Given the description of an element on the screen output the (x, y) to click on. 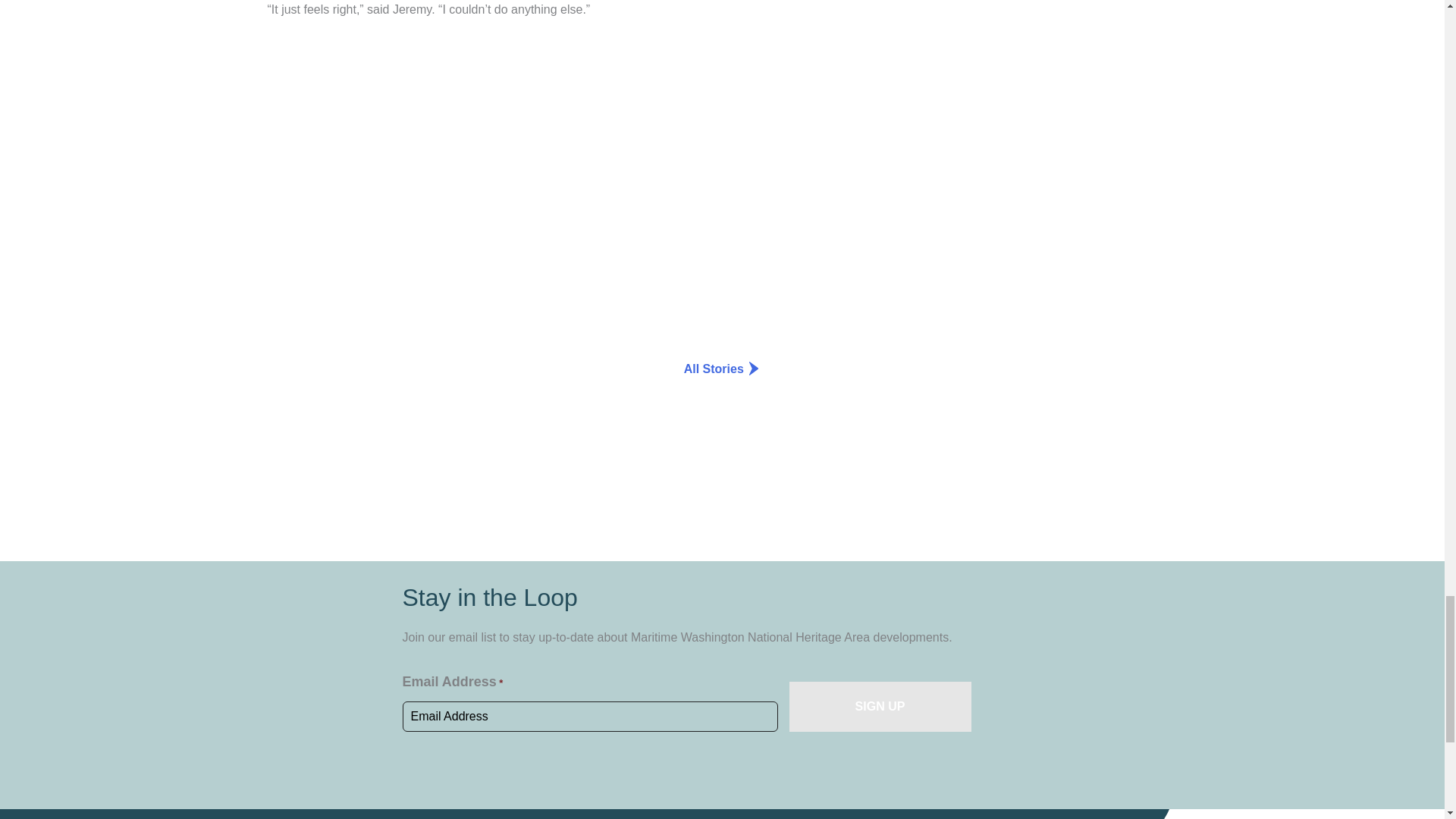
Sign Up (880, 706)
